Given the description of an element on the screen output the (x, y) to click on. 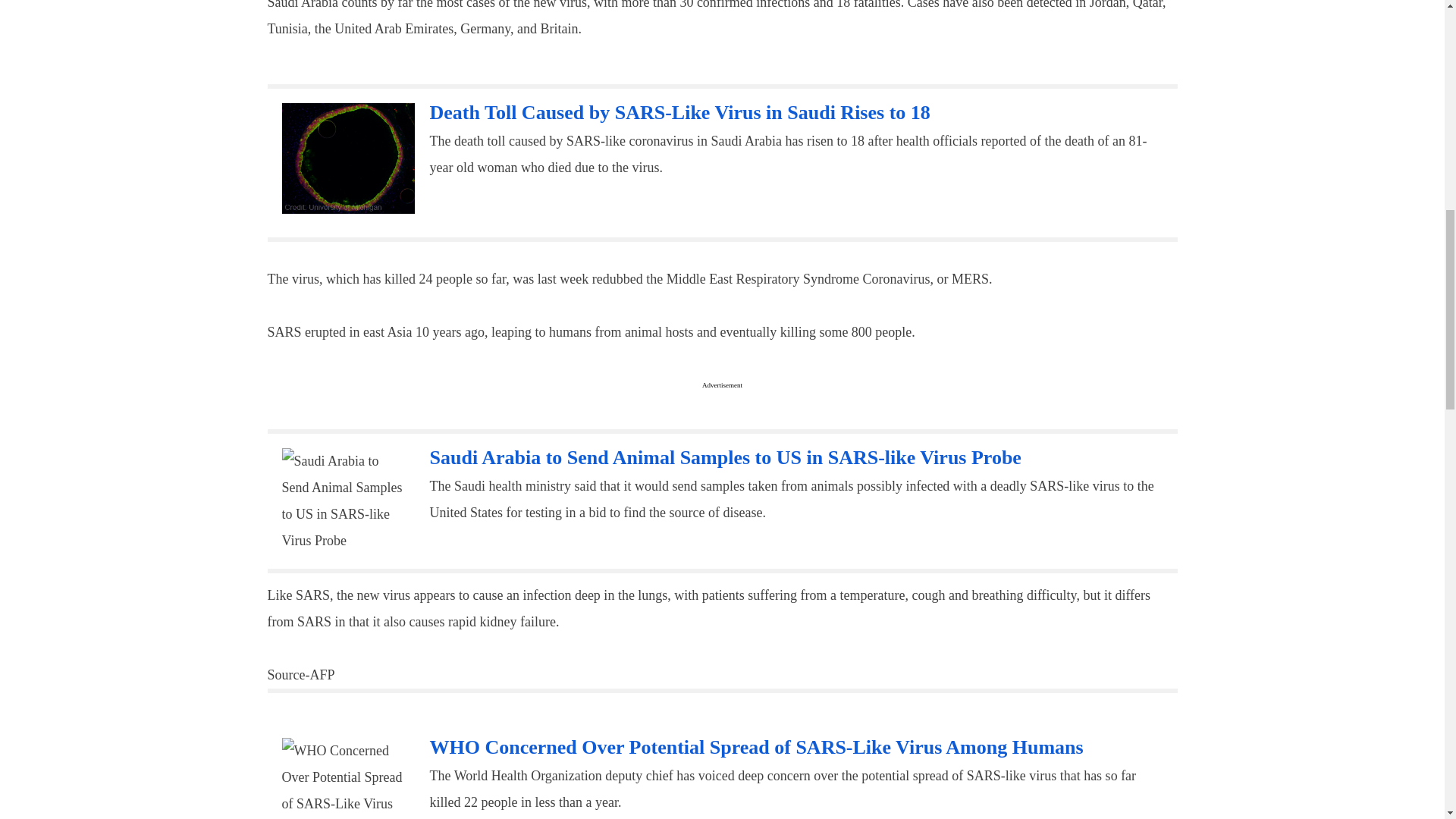
Death Toll Caused by SARS-Like Virus in Saudi Rises to 18 (679, 112)
Death Toll Caused by SARS-Like Virus in Saudi Rises to 18 (348, 158)
Death Toll Caused by SARS-Like Virus in Saudi Rises to 18 (679, 112)
